Given the description of an element on the screen output the (x, y) to click on. 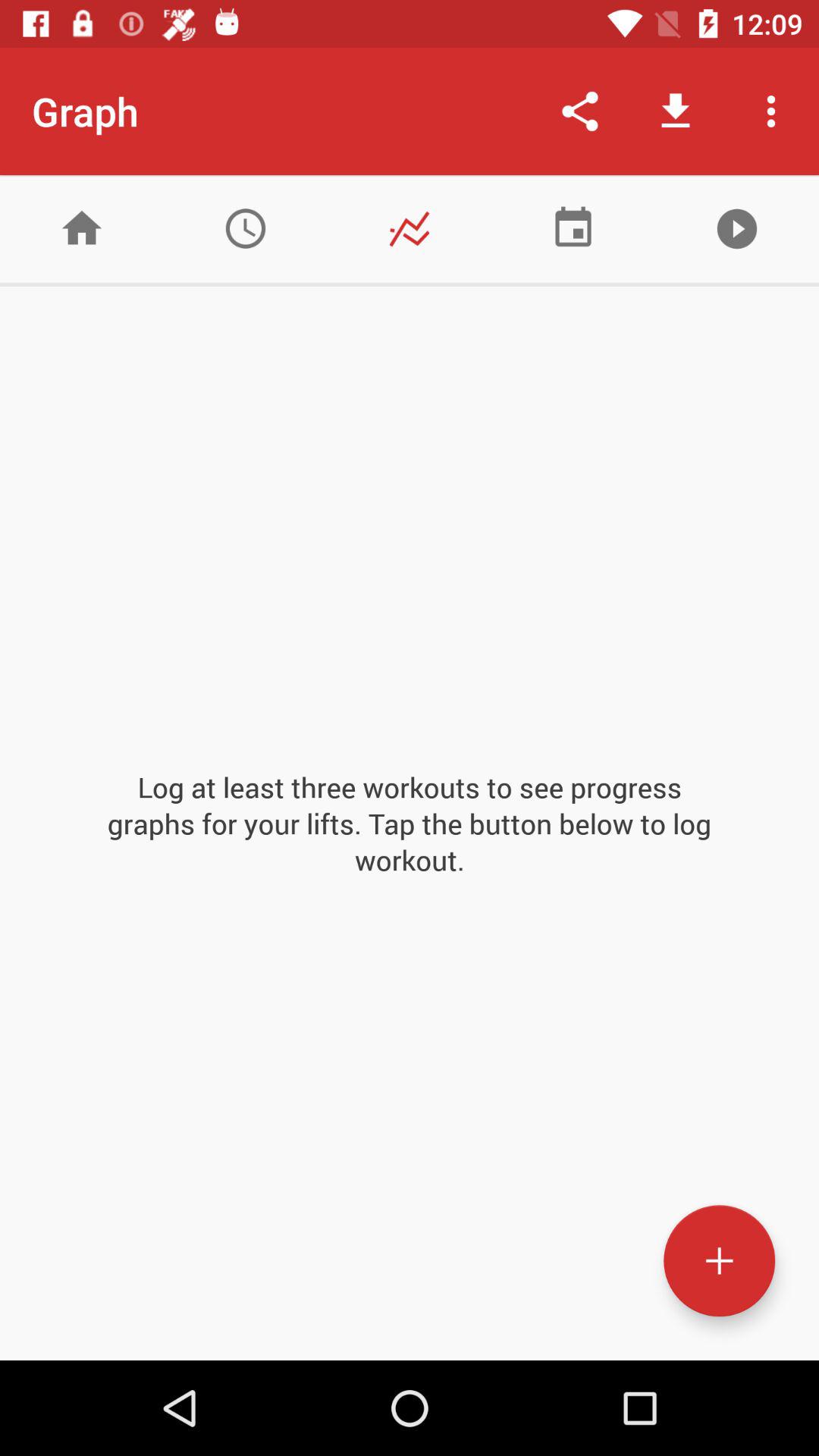
clock button (245, 228)
